Given the description of an element on the screen output the (x, y) to click on. 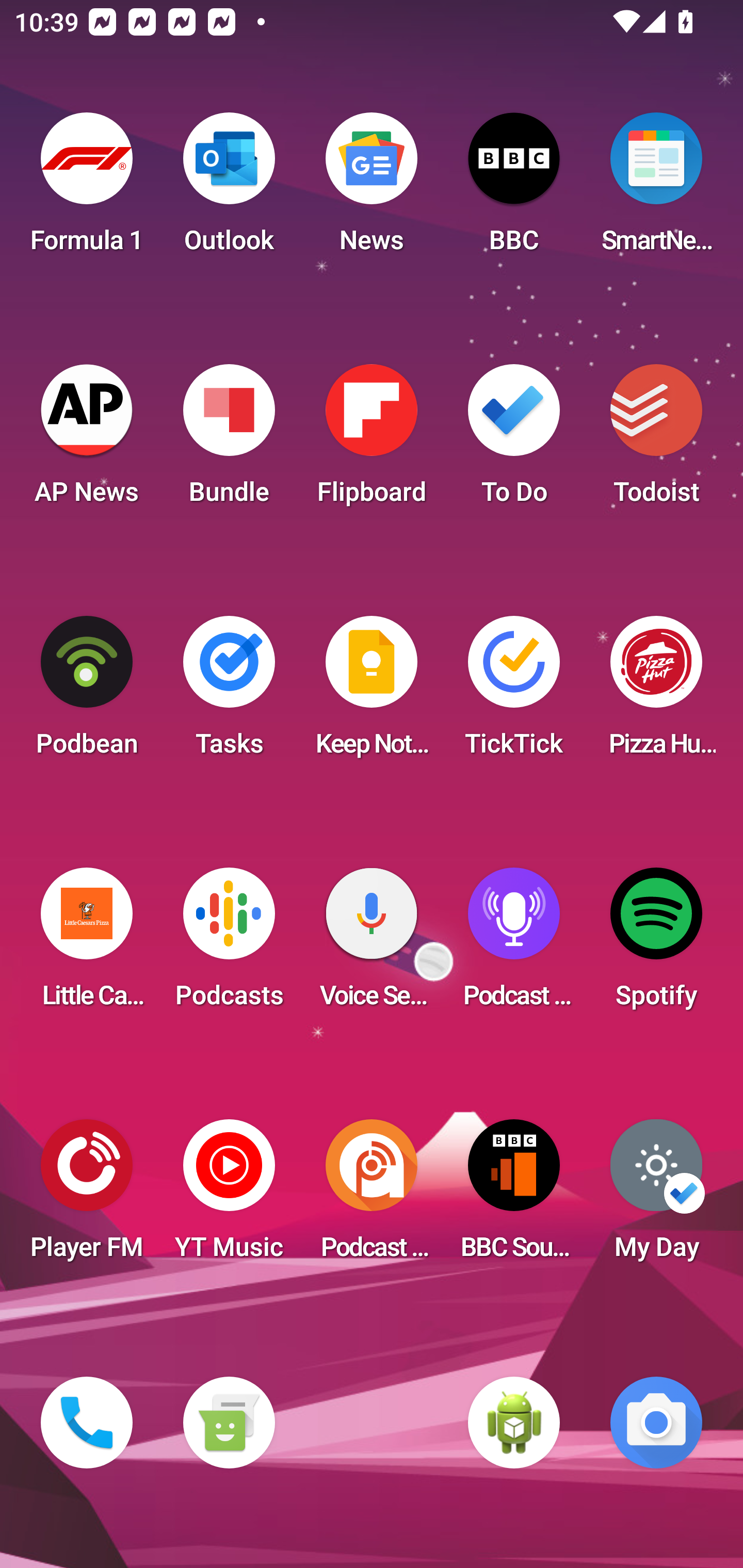
Formula 1 (86, 188)
Outlook (228, 188)
News (371, 188)
BBC (513, 188)
SmartNews (656, 188)
AP News (86, 440)
Bundle (228, 440)
Flipboard (371, 440)
To Do (513, 440)
Todoist (656, 440)
Podbean (86, 692)
Tasks (228, 692)
Keep Notes (371, 692)
TickTick (513, 692)
Pizza Hut HK & Macau (656, 692)
Little Caesars Pizza (86, 943)
Podcasts (228, 943)
Voice Search (371, 943)
Podcast Player (513, 943)
Spotify (656, 943)
Player FM (86, 1195)
YT Music (228, 1195)
Podcast Addict (371, 1195)
BBC Sounds (513, 1195)
My Day (656, 1195)
Phone (86, 1422)
Messaging (228, 1422)
WebView Browser Tester (513, 1422)
Camera (656, 1422)
